Given the description of an element on the screen output the (x, y) to click on. 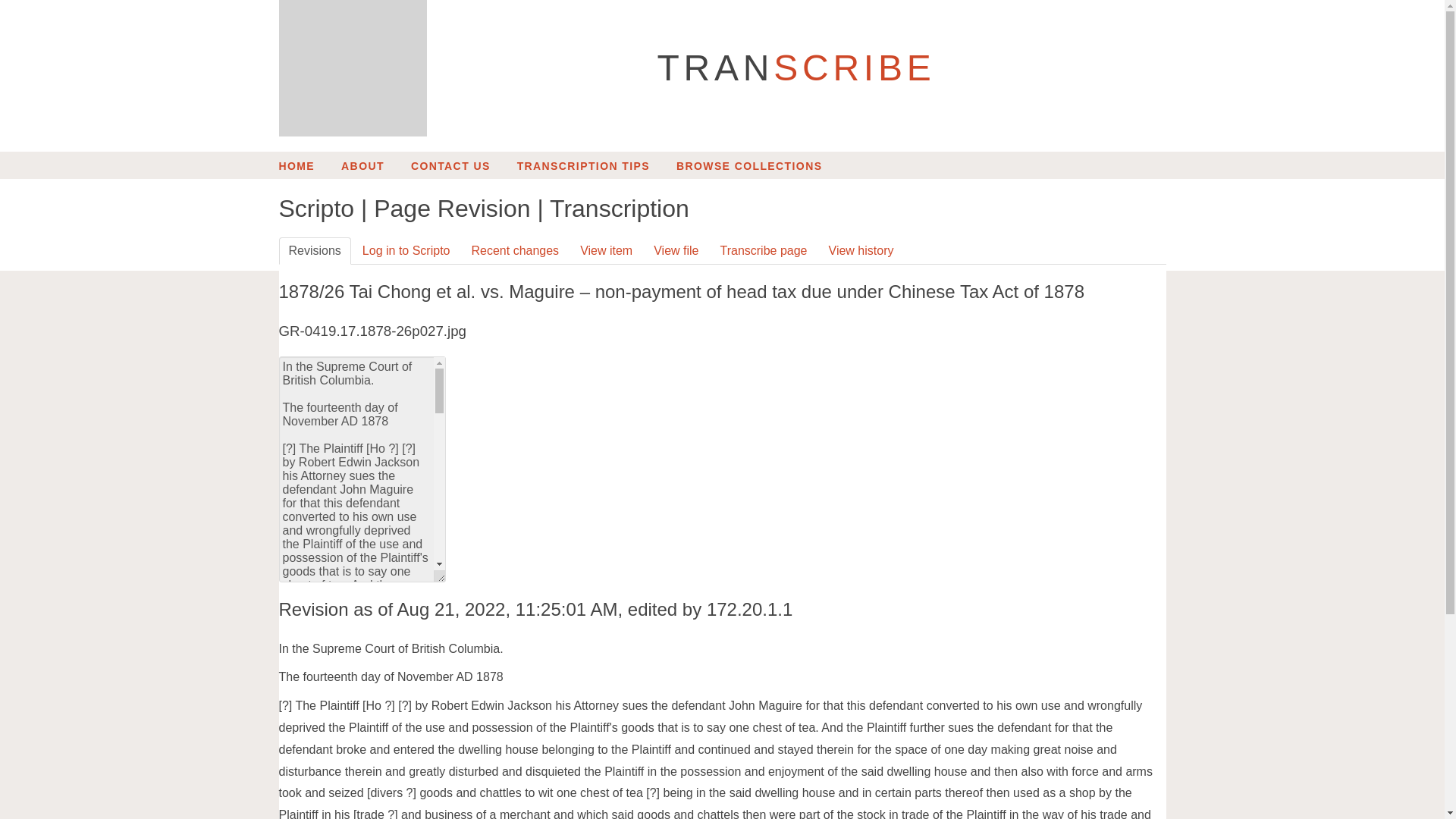
Royal BC Museum (352, 68)
View file (675, 250)
ABOUT (362, 165)
TRANSCRIPTION TIPS (582, 165)
View history (861, 250)
Revisions (314, 250)
Transcribe page (763, 250)
Log in to Scripto (406, 250)
View item (606, 250)
Recent changes (515, 250)
BROWSE COLLECTIONS (749, 165)
CONTACT US (450, 165)
HOME (297, 165)
